Given the description of an element on the screen output the (x, y) to click on. 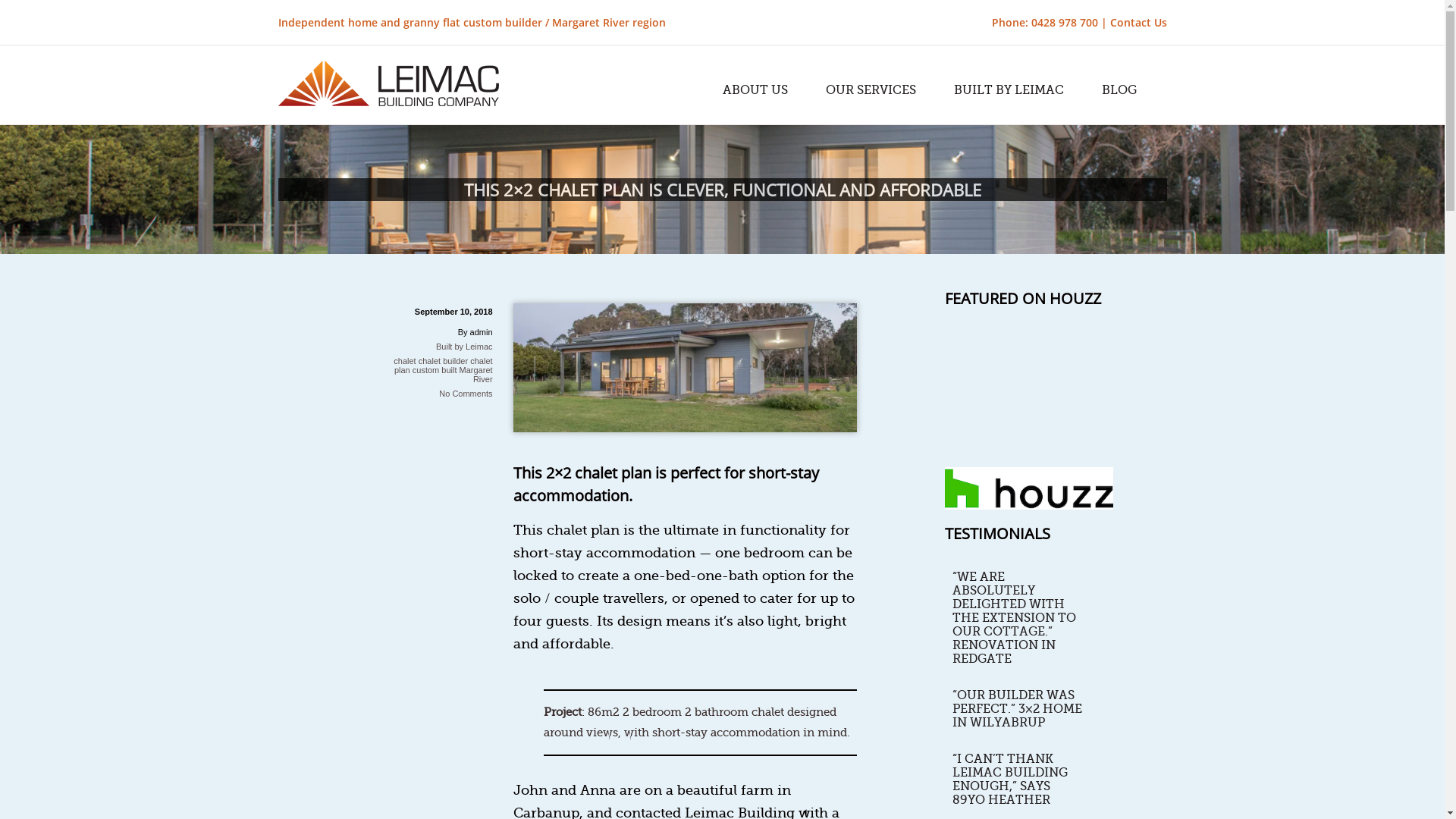
custom built Element type: text (434, 369)
BUILT BY LEIMAC Element type: text (1008, 90)
BLOG Element type: text (1118, 90)
No Comments Element type: text (465, 393)
chalet Element type: text (404, 360)
Margaret River Element type: text (475, 374)
ABOUT US Element type: text (754, 90)
chalet plan Element type: text (443, 365)
Contact Us Element type: text (1138, 22)
Built by Leimac Element type: text (464, 346)
OUR SERVICES Element type: text (869, 90)
chalet builder Element type: text (442, 360)
